Given the description of an element on the screen output the (x, y) to click on. 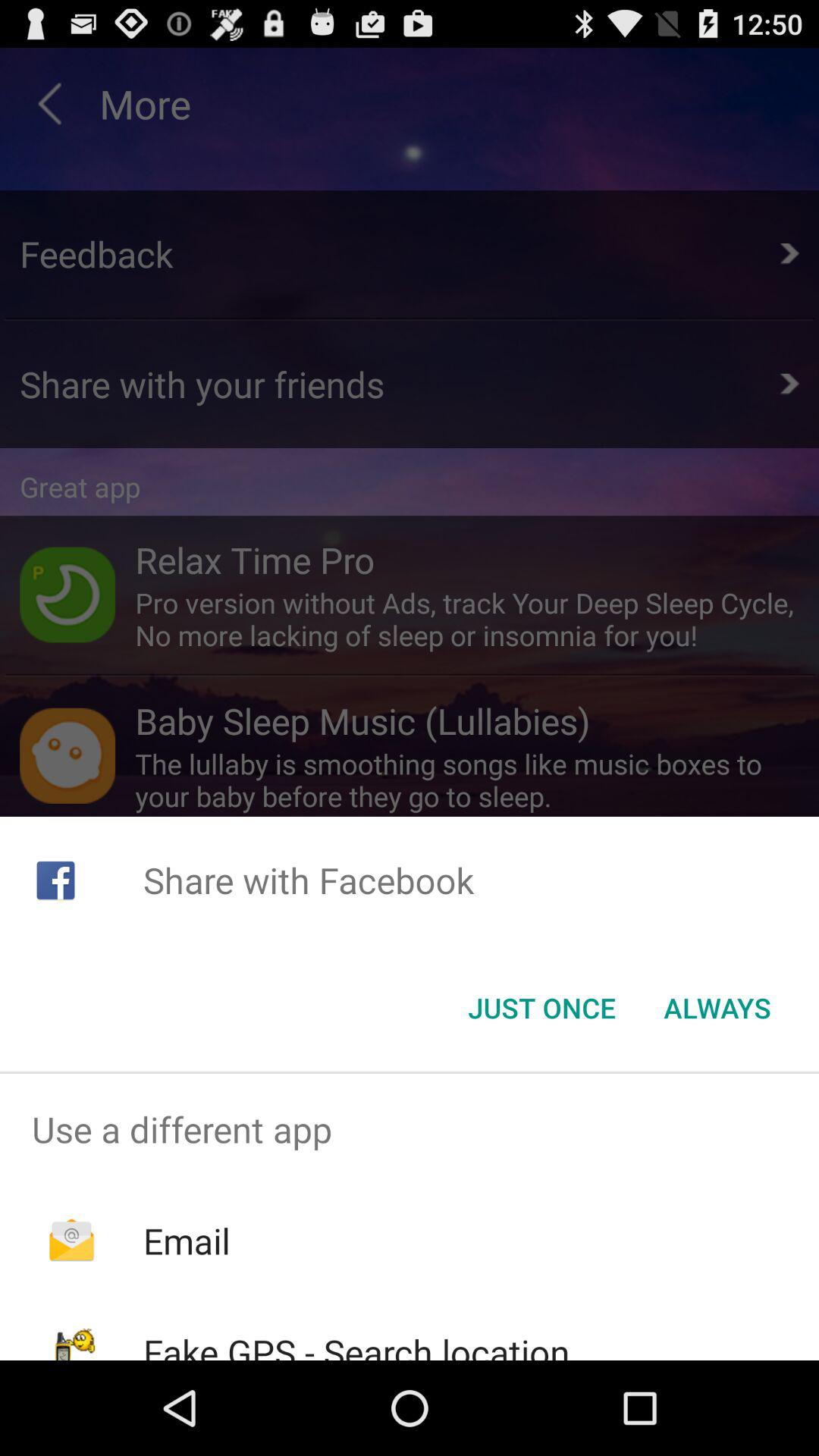
turn on button next to always (541, 1007)
